Given the description of an element on the screen output the (x, y) to click on. 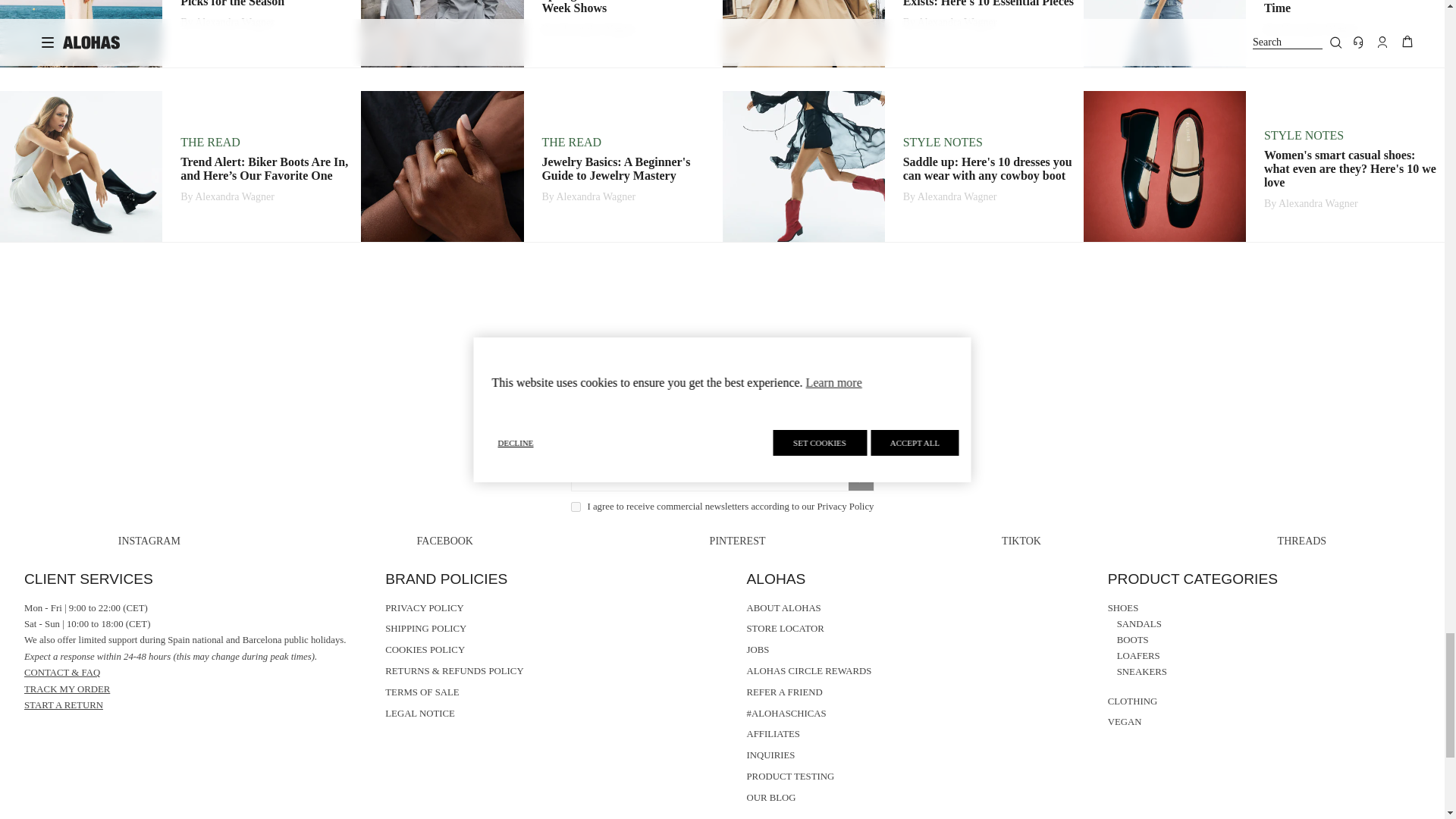
Privacy Policy (845, 506)
Track Your Order (67, 688)
